Given the description of an element on the screen output the (x, y) to click on. 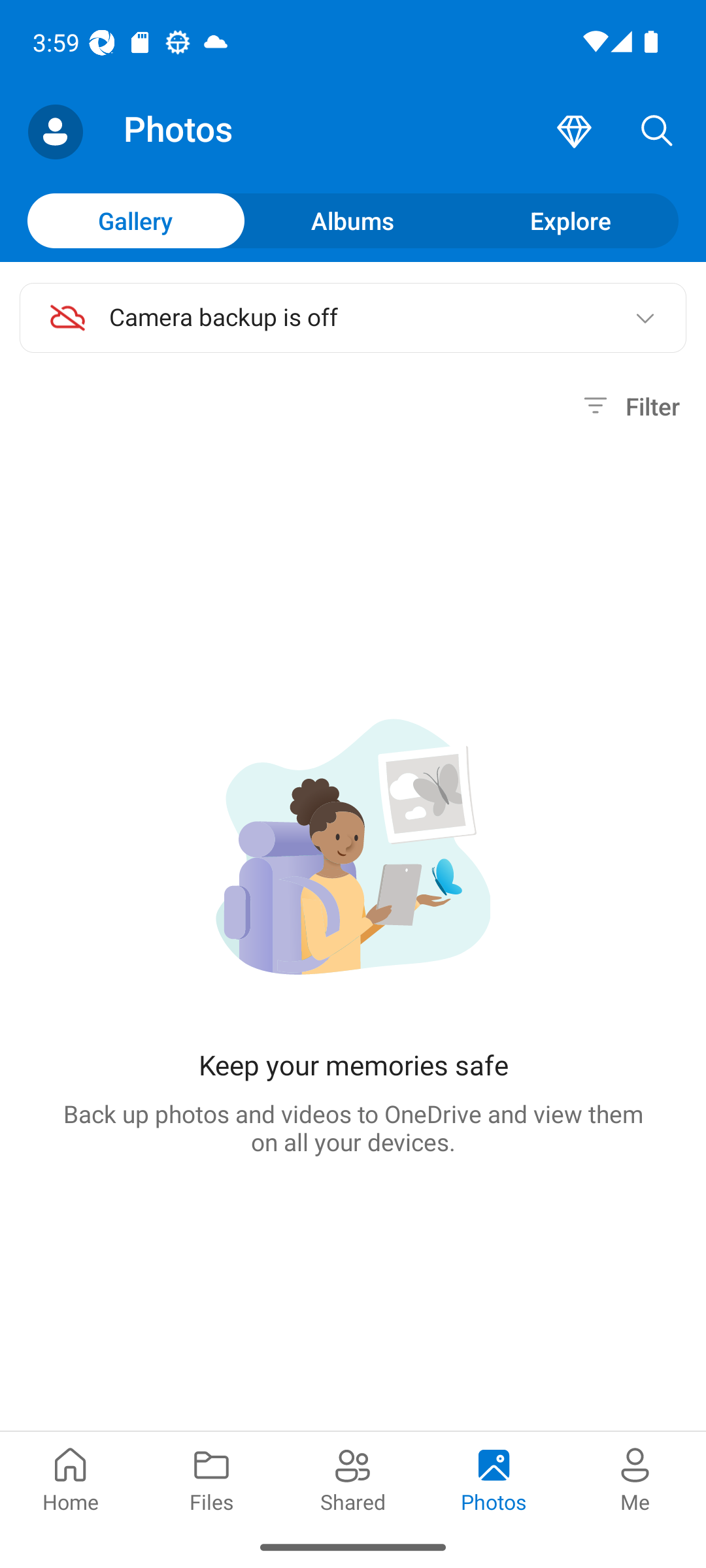
Account switcher (55, 131)
Premium button (574, 131)
Search button (656, 131)
Albums (352, 219)
Explore (569, 219)
Expand camera status banner (645, 318)
Filter (628, 405)
Home pivot Home (70, 1478)
Files pivot Files (211, 1478)
Shared pivot Shared (352, 1478)
Me pivot Me (635, 1478)
